Given the description of an element on the screen output the (x, y) to click on. 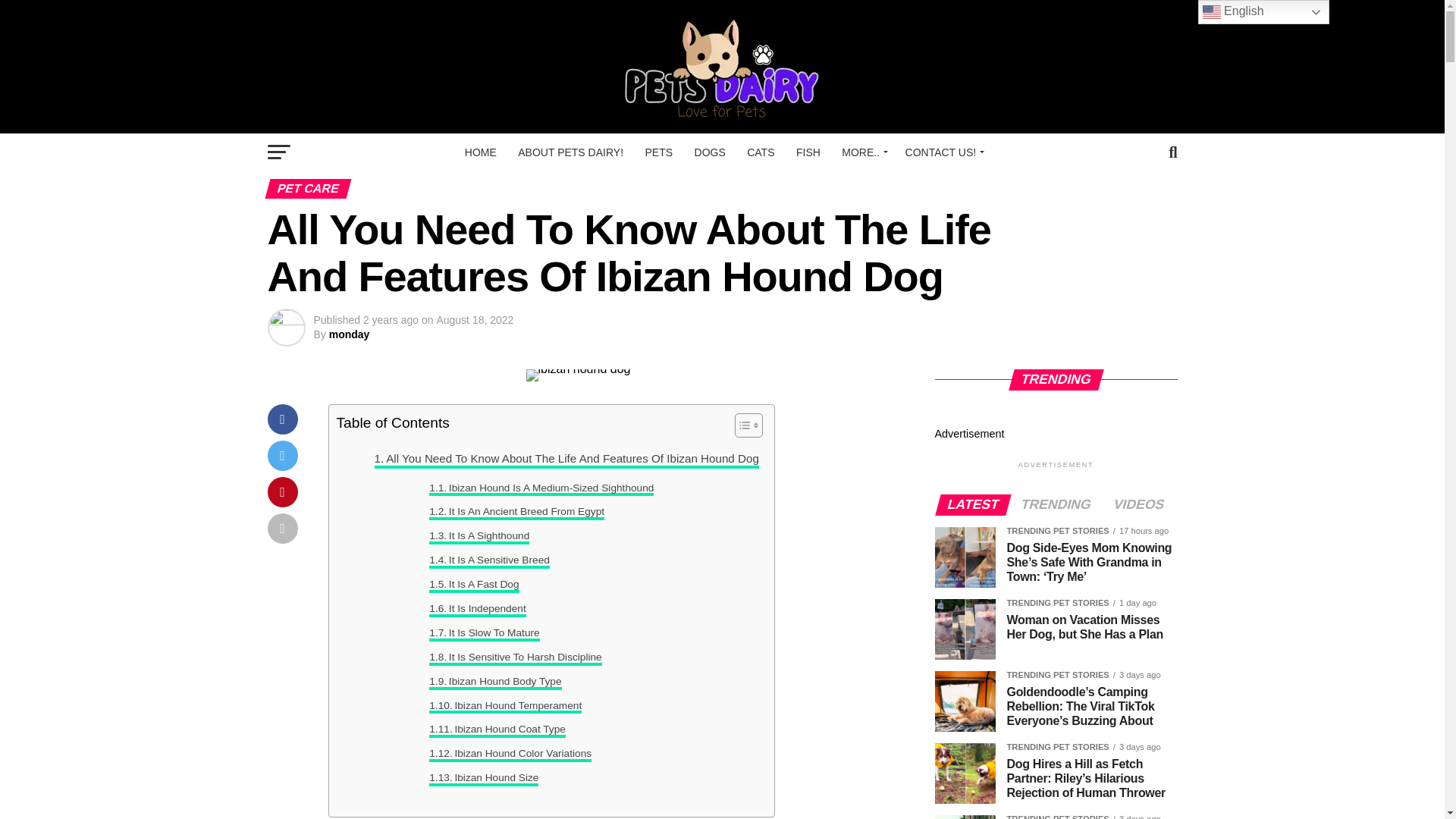
ABOUT PETS DAIRY! (569, 152)
PETS (657, 152)
HOME (480, 152)
FISH (808, 152)
DOGS (710, 152)
CATS (760, 152)
